Given the description of an element on the screen output the (x, y) to click on. 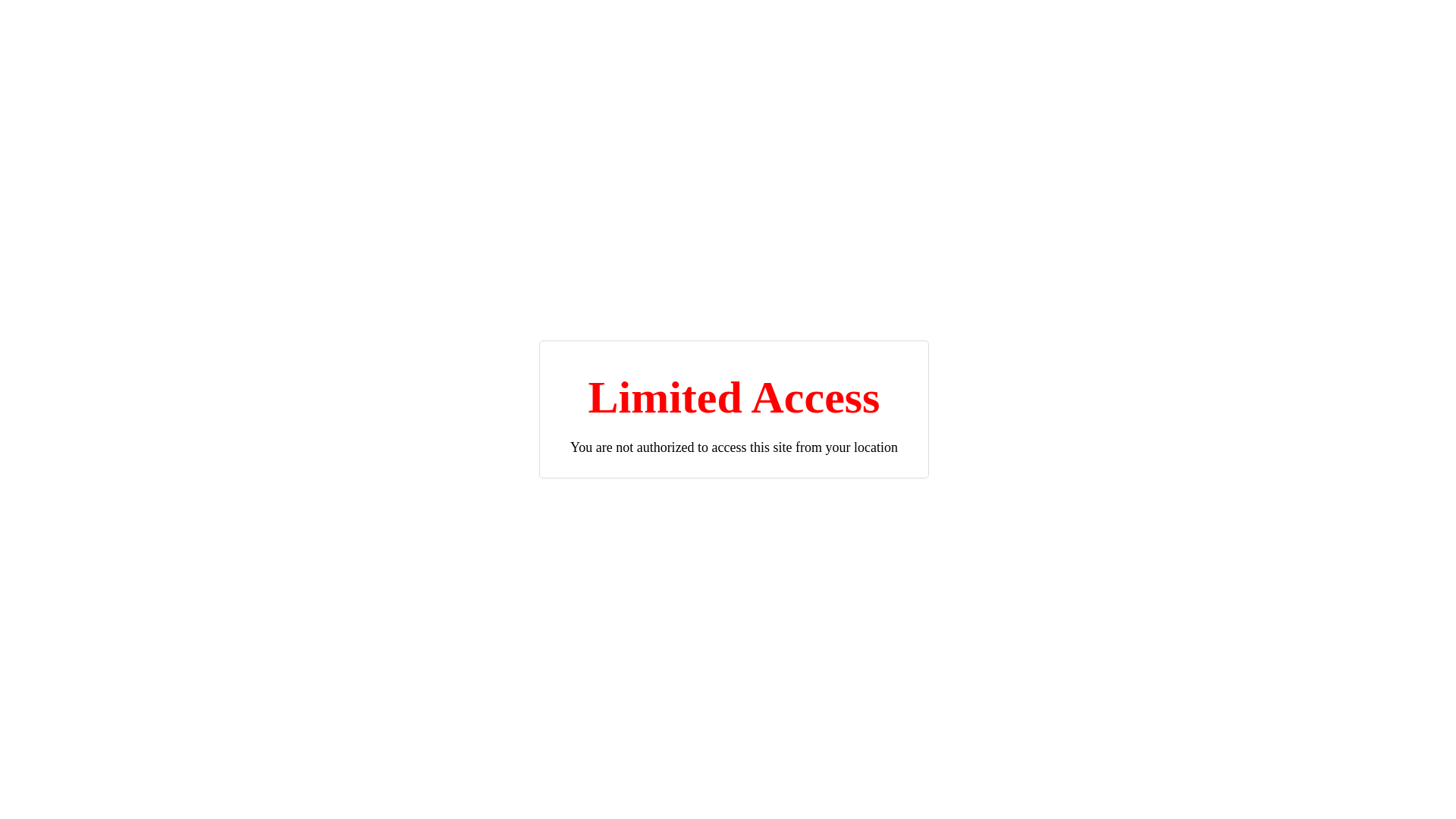
Shopify online store chat Element type: hover (1399, 780)
